Given the description of an element on the screen output the (x, y) to click on. 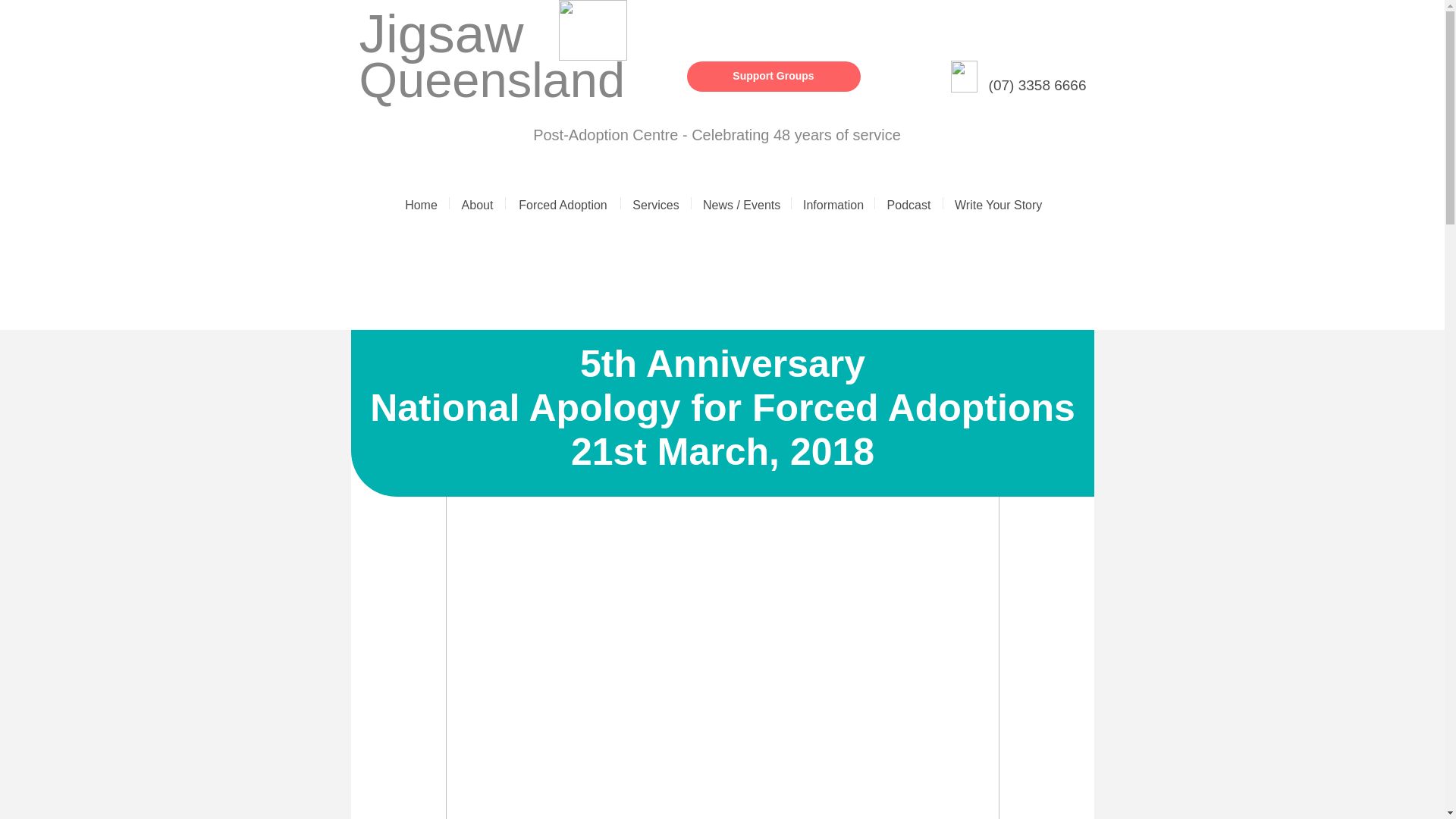
Home (420, 203)
Jigsaw (441, 33)
Forced Adoption (562, 203)
Support Groups (773, 76)
Queensland (492, 79)
About (477, 203)
Services (655, 203)
Information (833, 203)
